Given the description of an element on the screen output the (x, y) to click on. 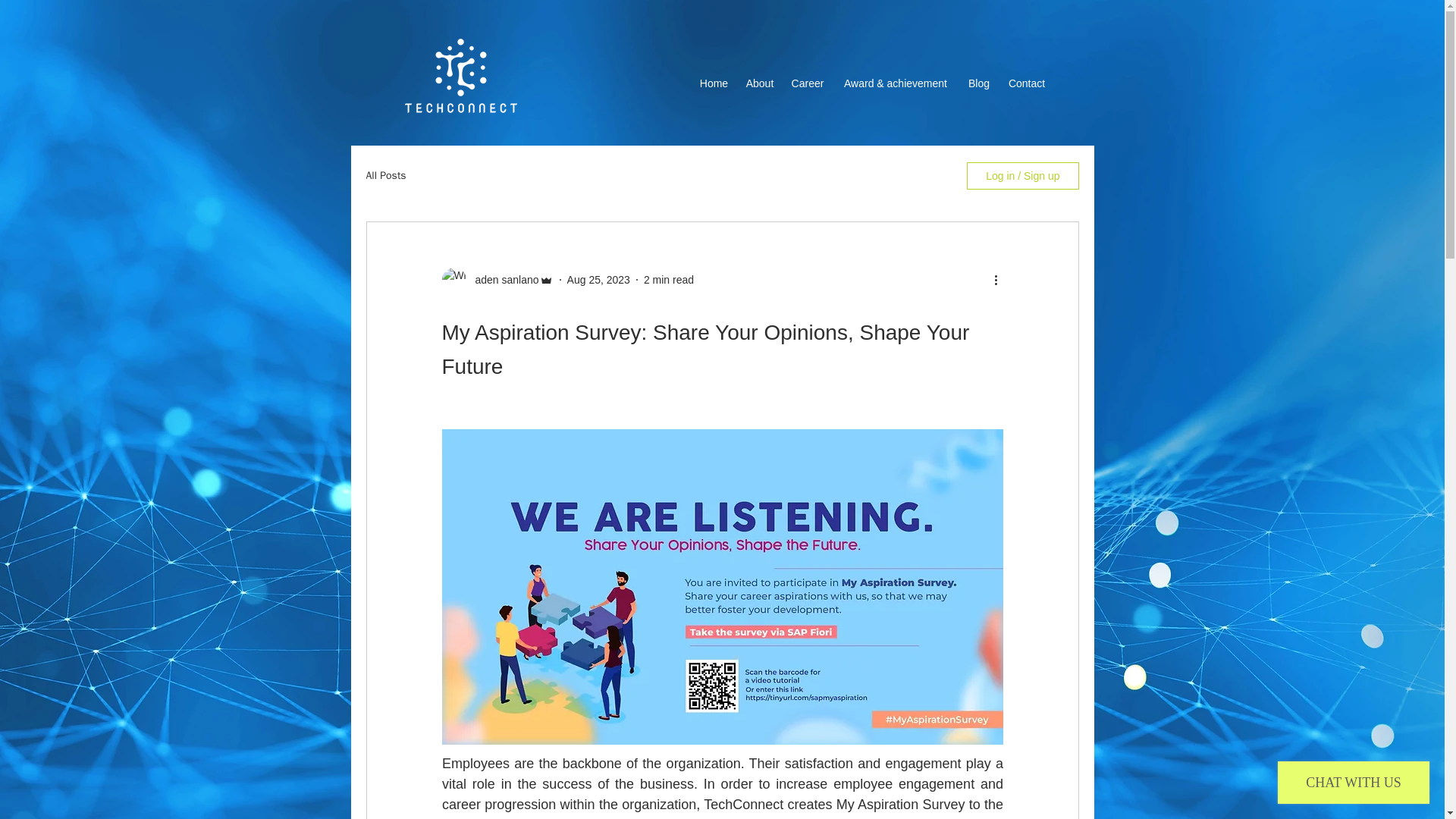
Home (713, 83)
Career (807, 83)
2 min read (668, 278)
Contact (1026, 83)
Aug 25, 2023 (598, 278)
All Posts (385, 175)
aden sanlano (501, 279)
About (759, 83)
